Given the description of an element on the screen output the (x, y) to click on. 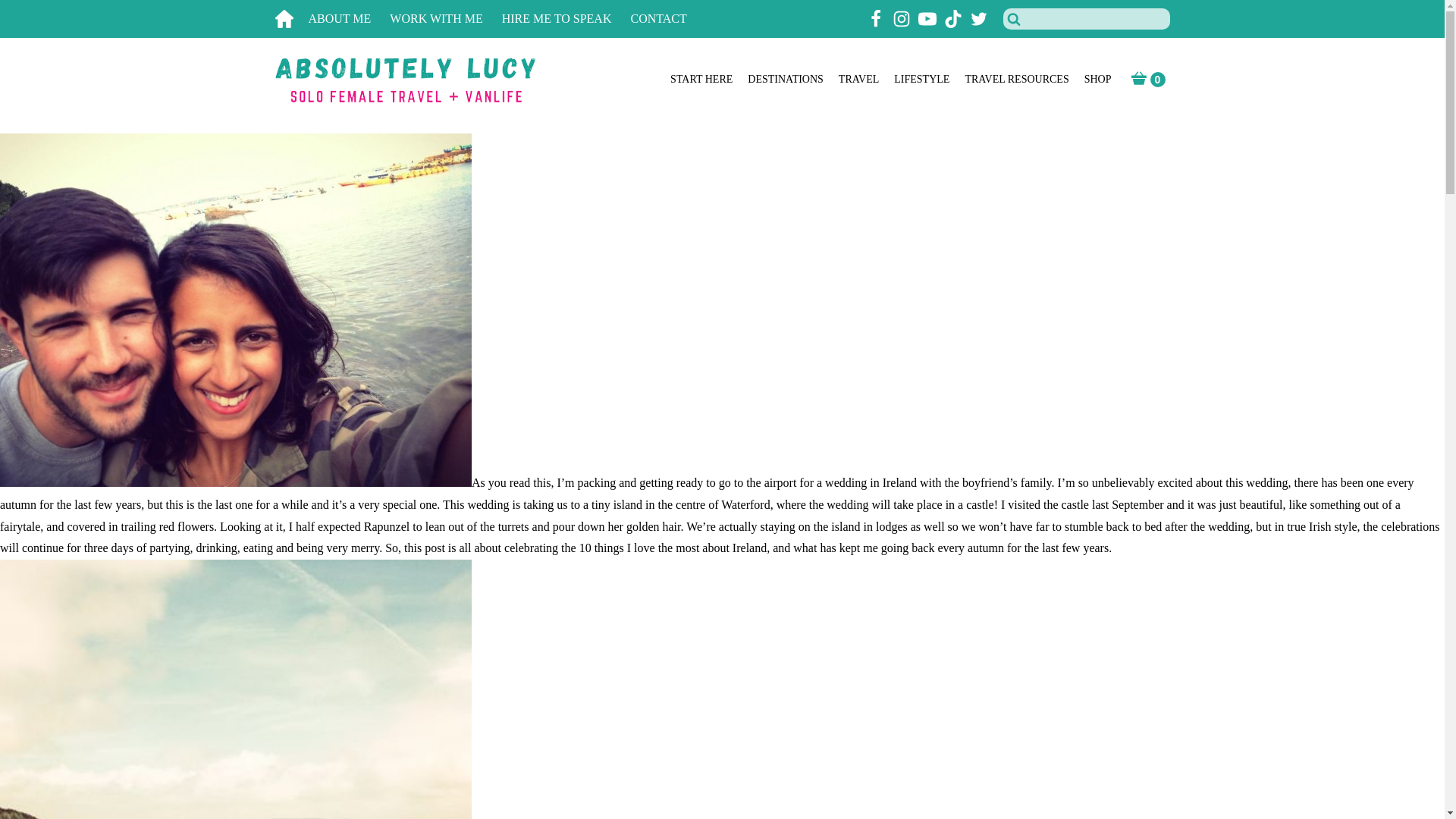
CONTACT (667, 19)
Search (31, 13)
WORK WITH ME (445, 19)
LIFESTYLE (921, 79)
TRAVEL RESOURCES (1015, 79)
START HERE (700, 79)
SHOP (1098, 79)
ABOUT ME (348, 19)
TRAVEL (858, 79)
DESTINATIONS (786, 79)
HIRE ME TO SPEAK (566, 19)
